Given the description of an element on the screen output the (x, y) to click on. 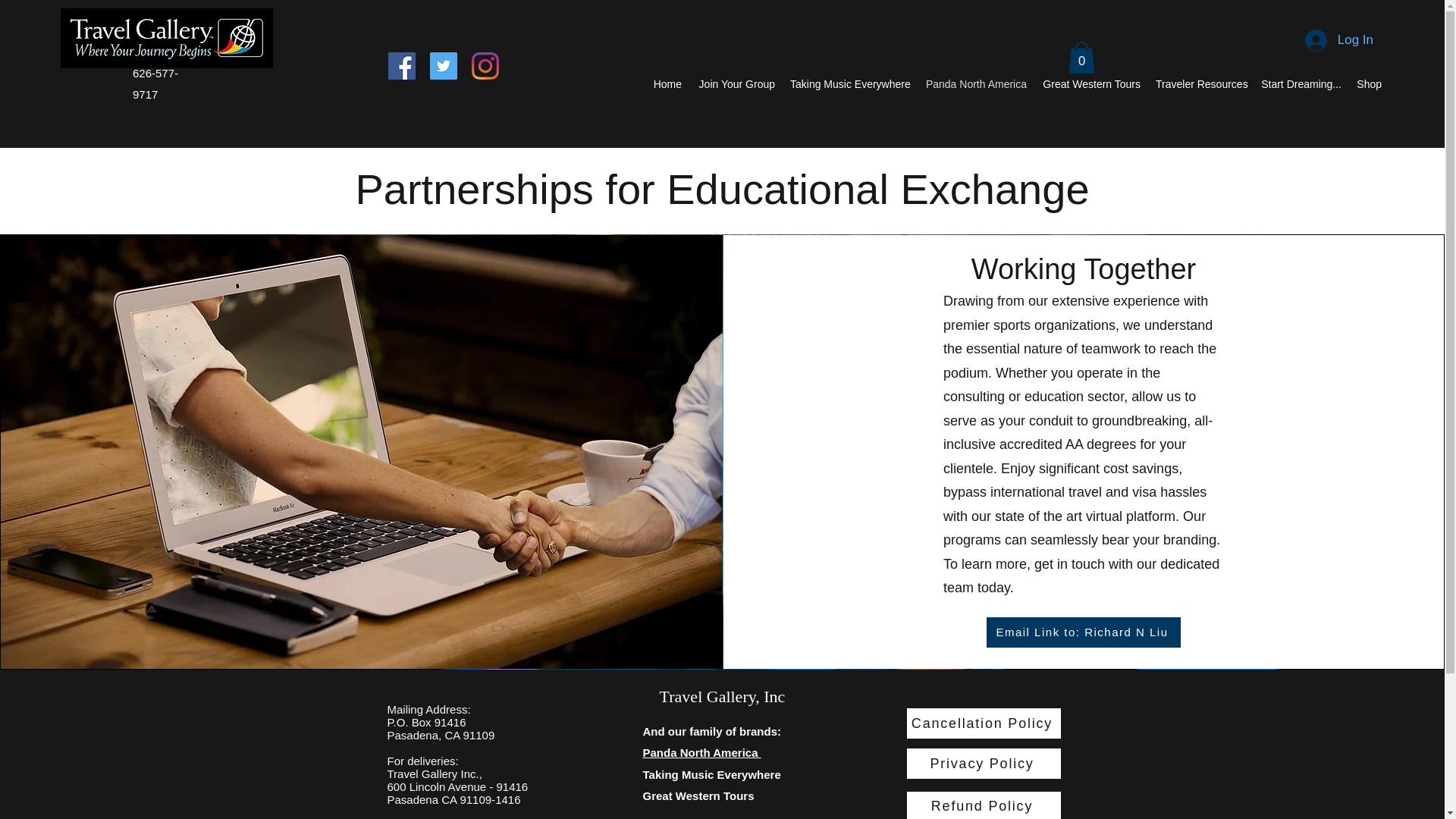
Traveler Resources (1200, 84)
Panda North America (974, 84)
Start Dreaming... (1300, 84)
Join Your Group (735, 84)
Log In (1339, 39)
Home (666, 84)
Great Western Tours (1090, 84)
Taking Music Everywhere (849, 84)
Shop (1369, 84)
